Given the description of an element on the screen output the (x, y) to click on. 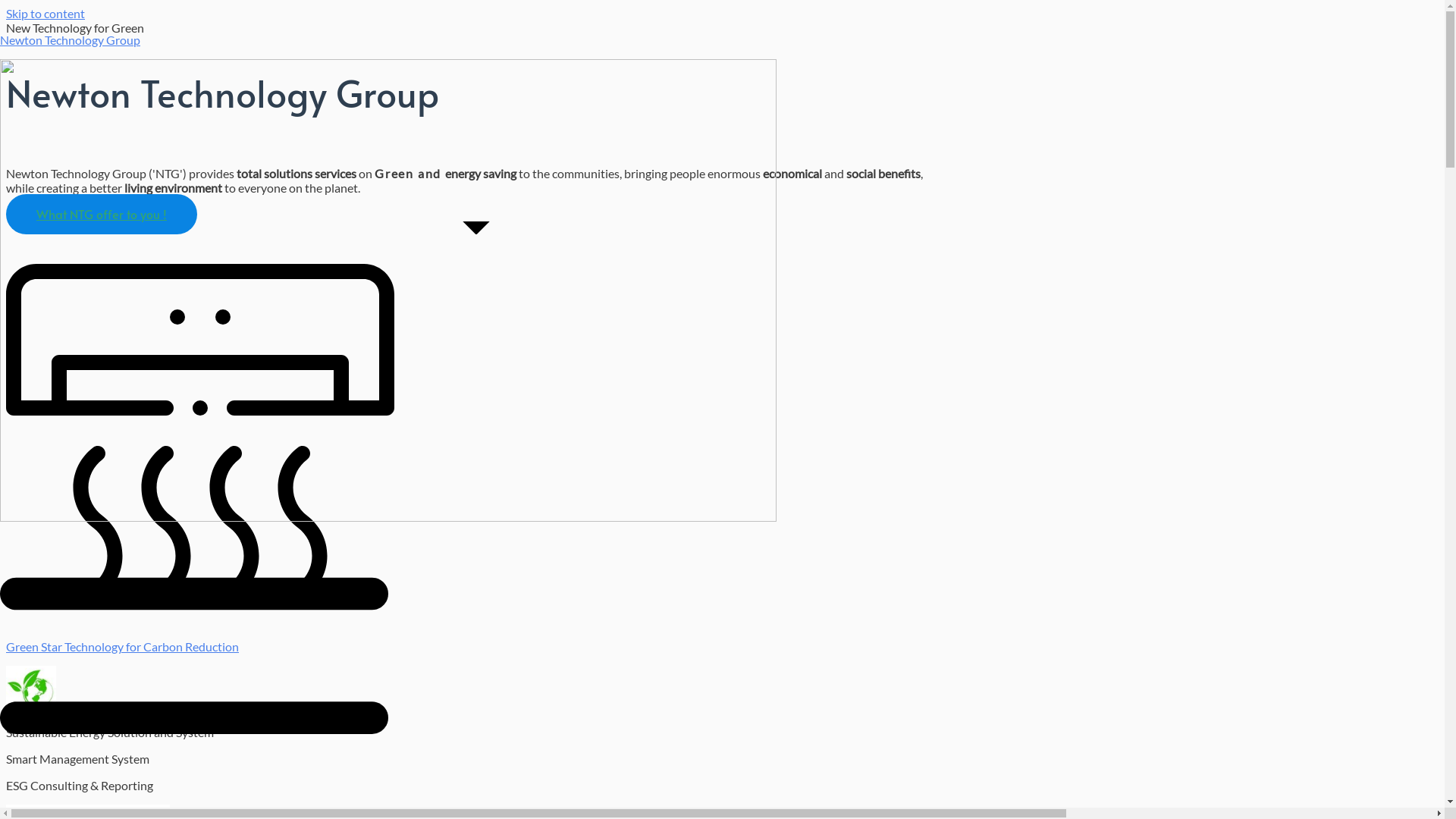
Green Star Technology for Carbon Reduction Element type: text (122, 646)
Newton Technology Group Element type: text (70, 39)
What NTG offer to you ! Element type: text (101, 214)
Skip to content Element type: text (45, 13)
